Given the description of an element on the screen output the (x, y) to click on. 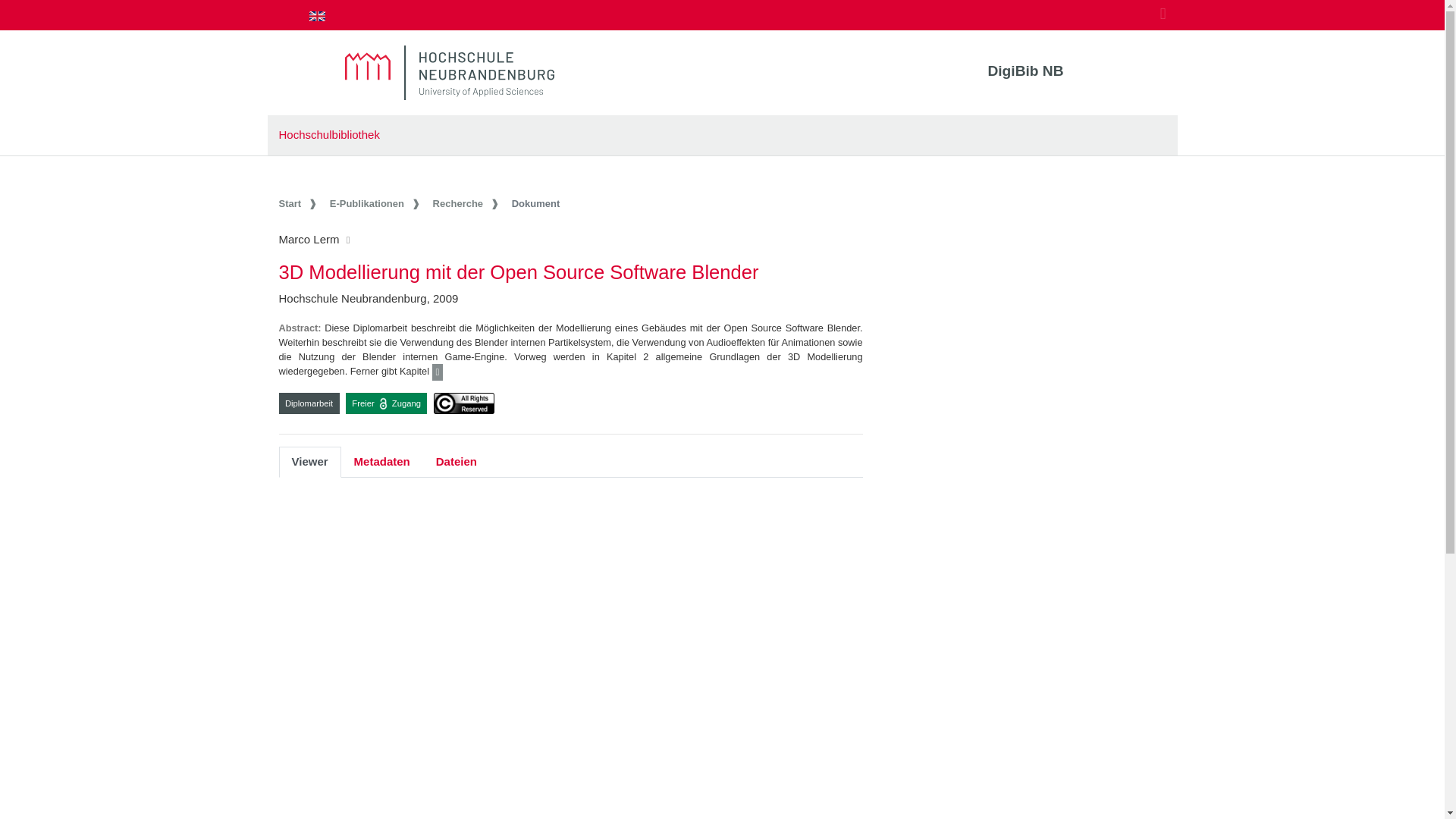
E-Publikationen (376, 202)
page in English (316, 15)
Metadaten (381, 461)
DigiBib NB (1024, 70)
Dateien (456, 461)
Hochschulbibliothek (329, 133)
Start (300, 202)
Viewer (309, 461)
Recherche (467, 202)
